Given the description of an element on the screen output the (x, y) to click on. 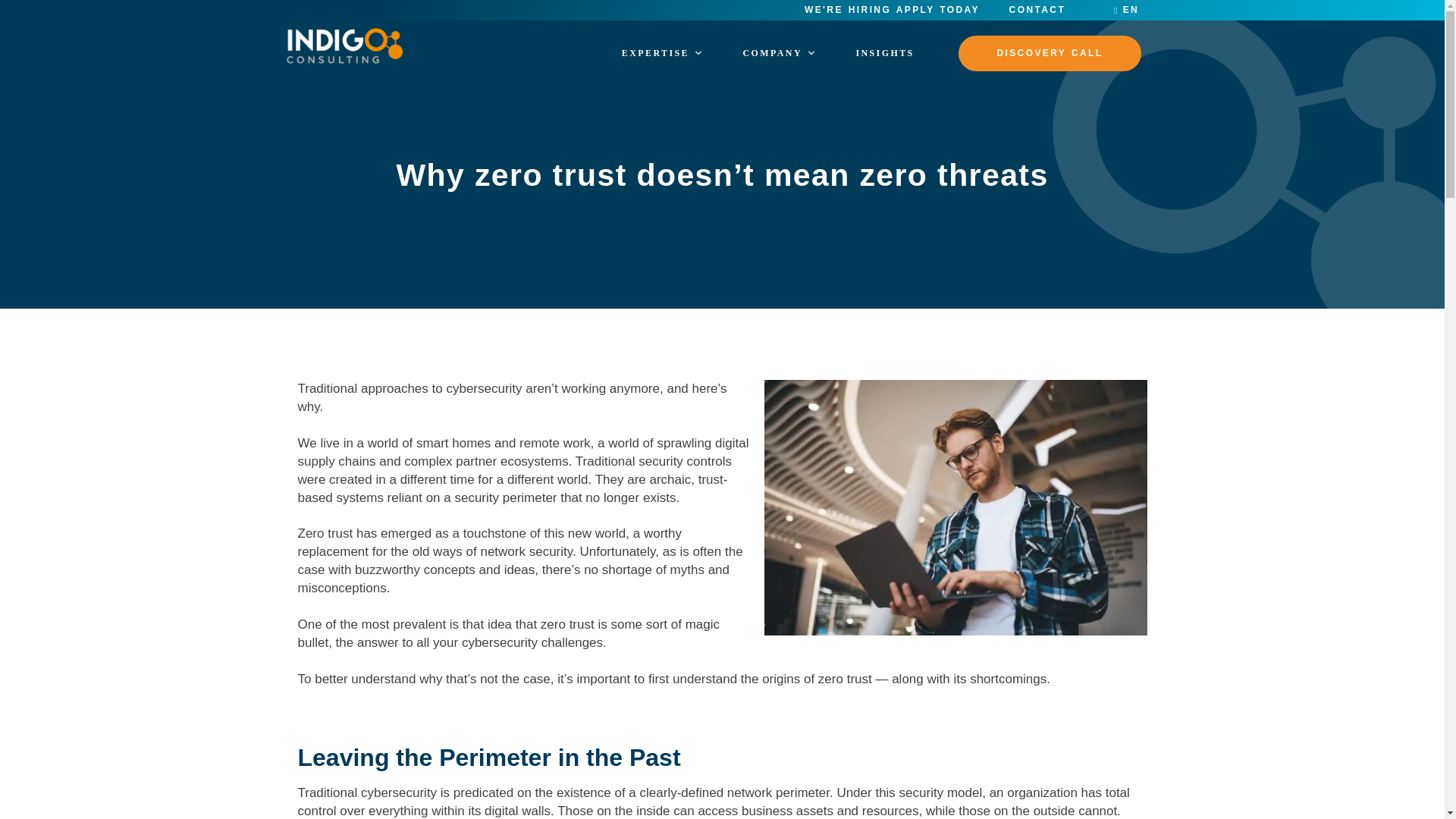
COMPANY (779, 52)
EN (1126, 10)
WE'RE HIRING APPLY TODAY (892, 9)
INSIGHTS (884, 52)
CONTACT (1037, 9)
EXPERTISE (662, 52)
